Given the description of an element on the screen output the (x, y) to click on. 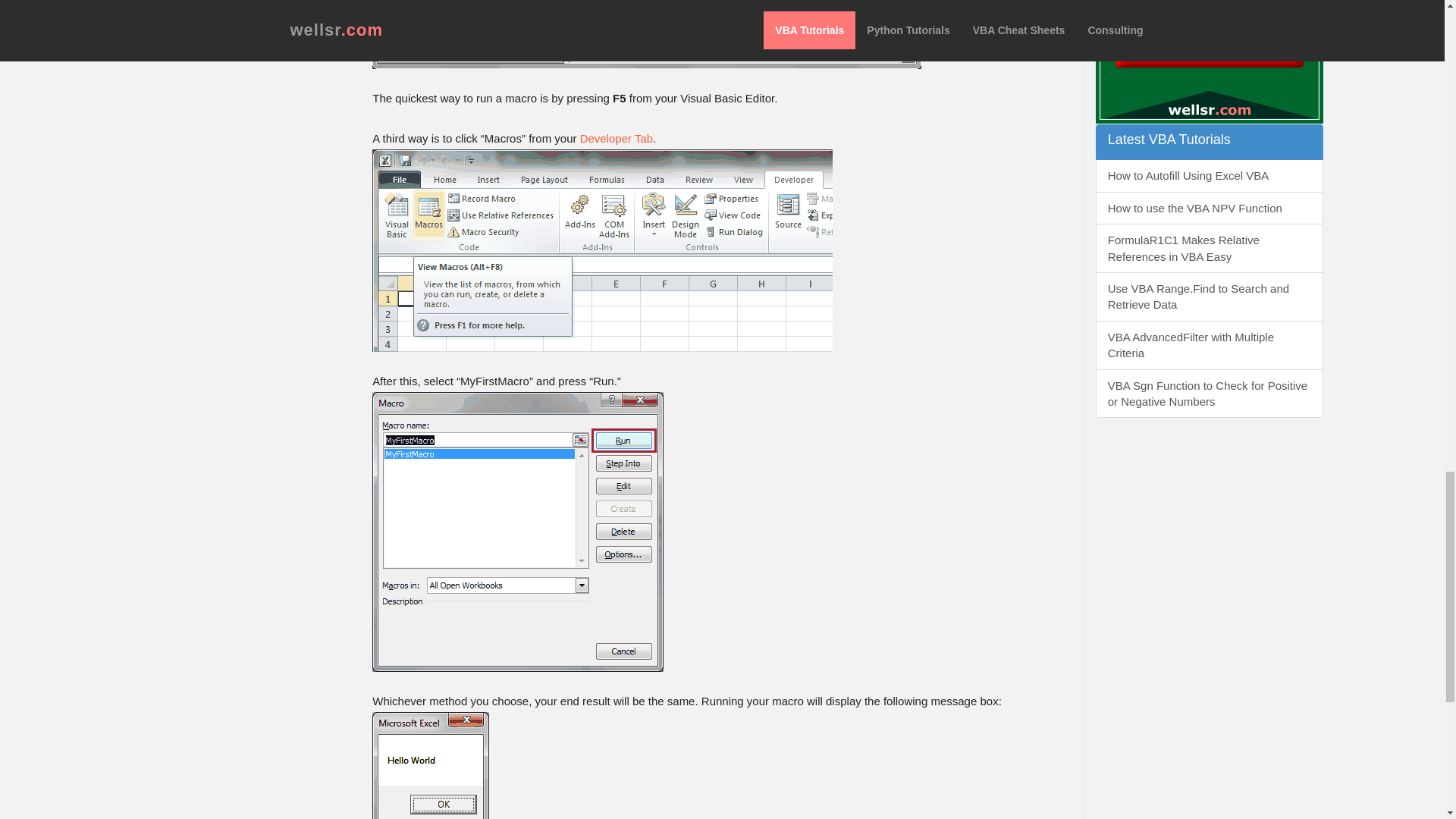
VBA Cheat Sheet Bundle (1209, 61)
Developer Tab (615, 137)
